Given the description of an element on the screen output the (x, y) to click on. 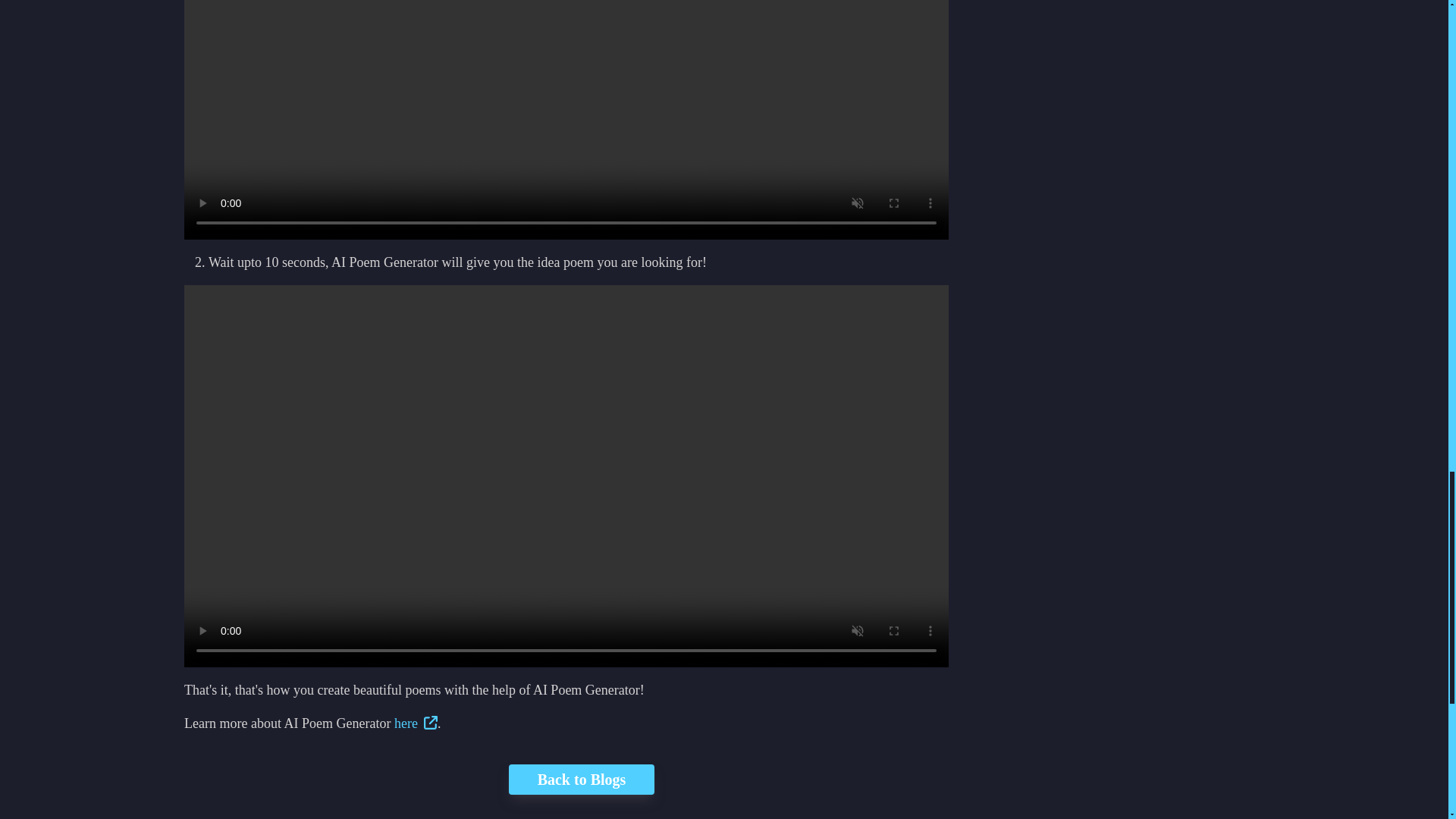
here (416, 723)
Back to Blogs (580, 779)
Back to Blogs (566, 779)
